Given the description of an element on the screen output the (x, y) to click on. 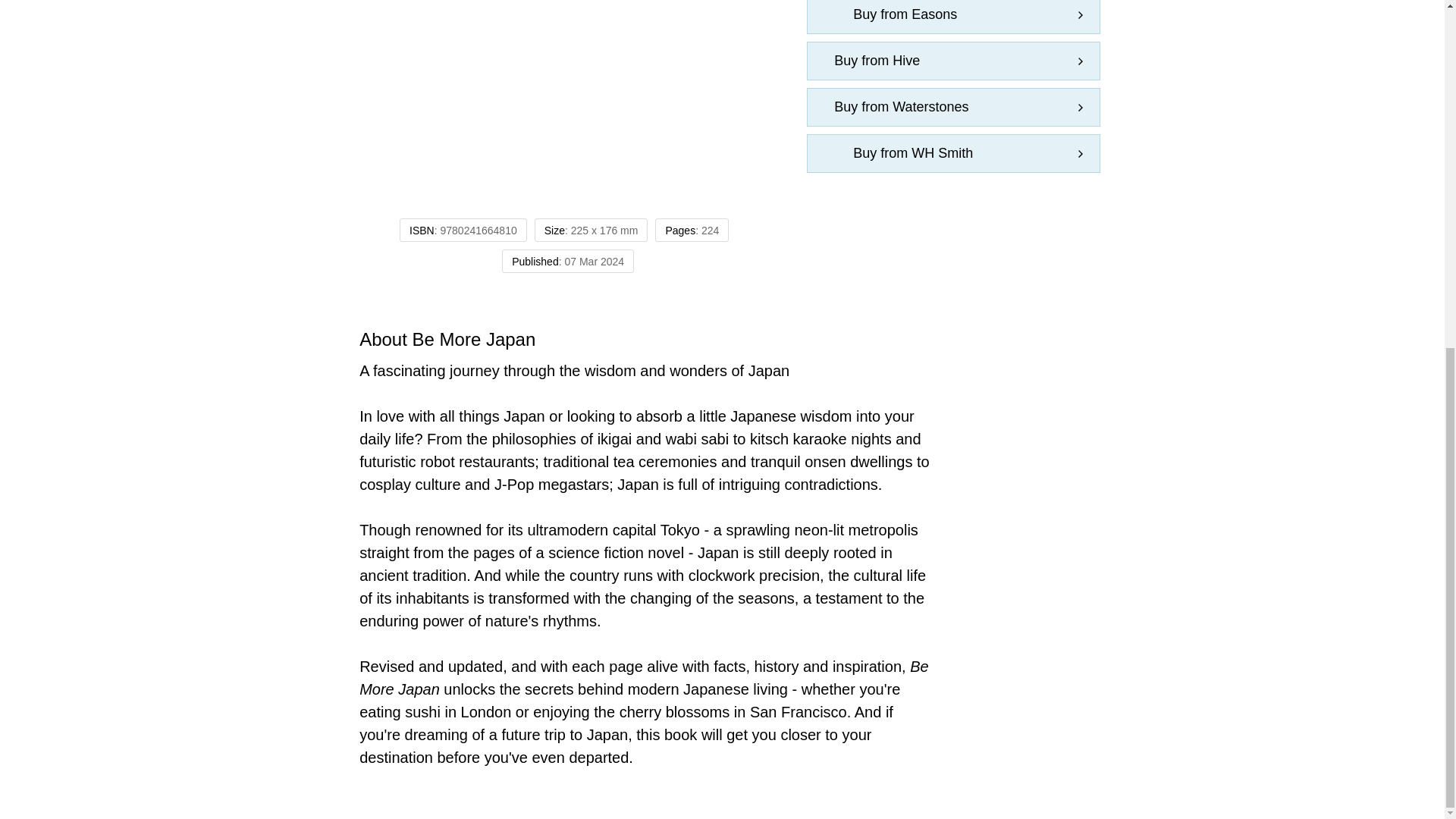
Buy Be More Japan from WH Smith (953, 153)
Buy Be More Japan from Hive (953, 60)
Buy Be More Japan from Waterstones (953, 107)
Buy Be More Japan from Easons (953, 16)
